Given the description of an element on the screen output the (x, y) to click on. 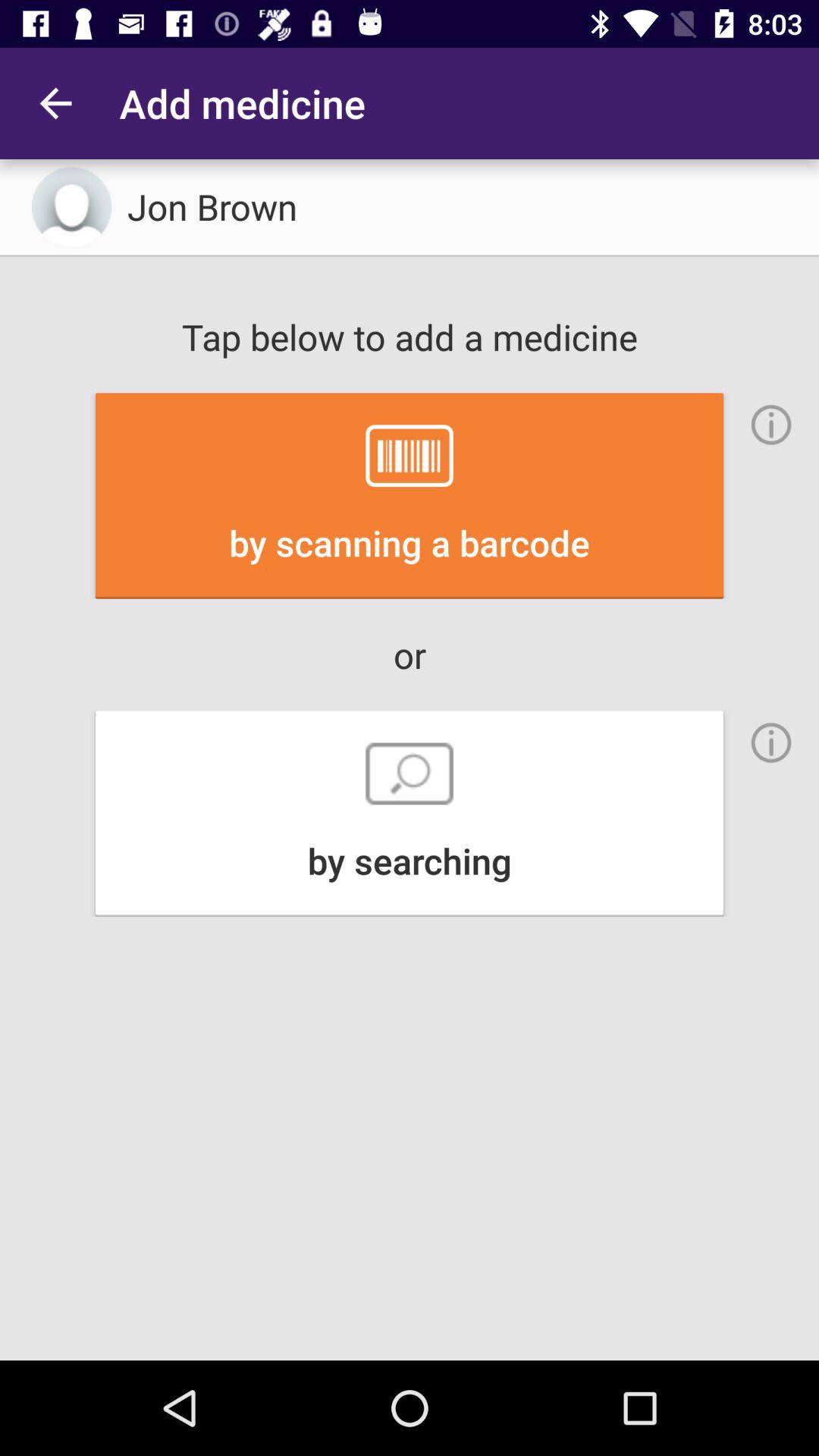
info button (771, 424)
